Given the description of an element on the screen output the (x, y) to click on. 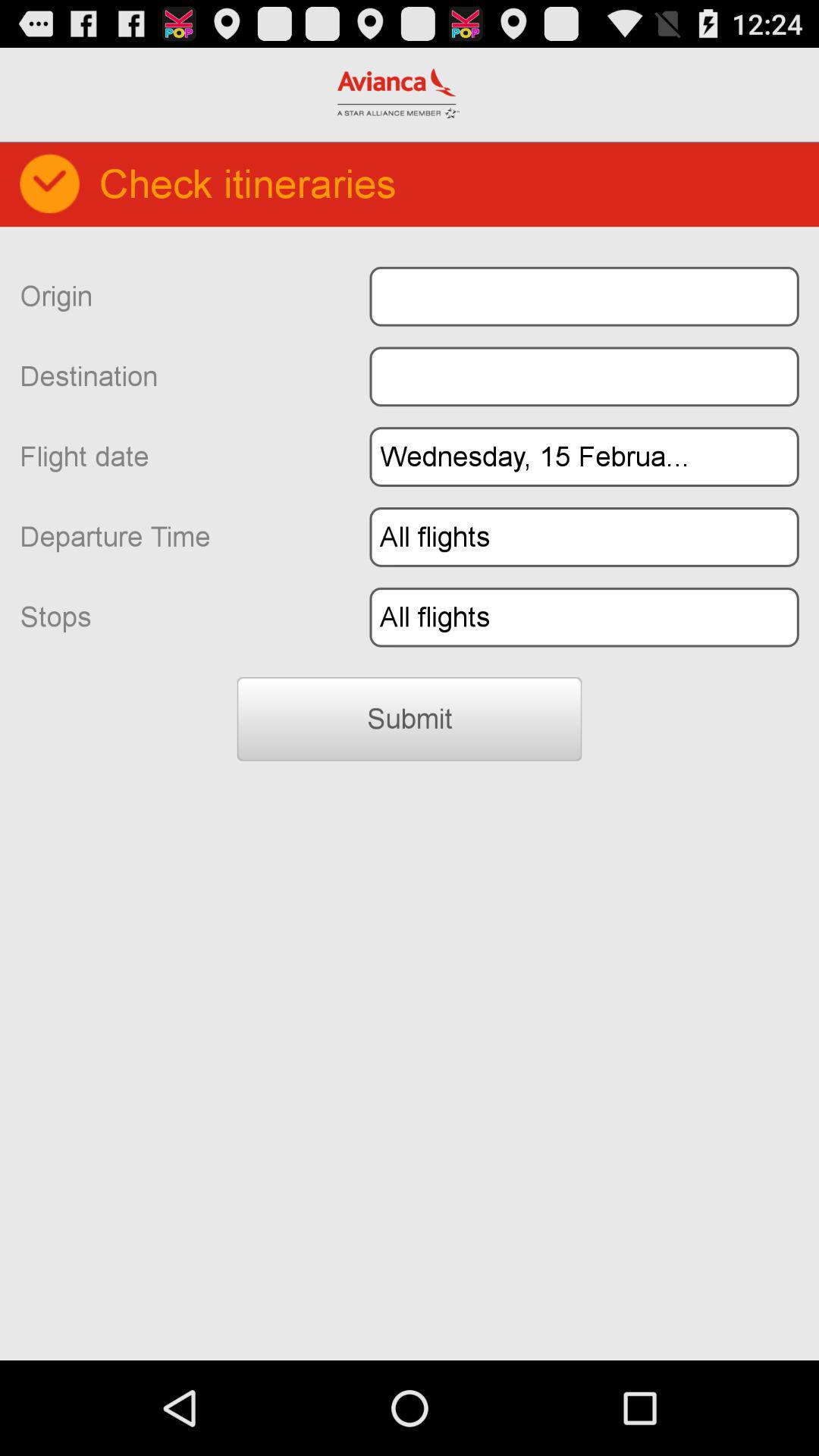
open icon next to origin app (584, 296)
